Given the description of an element on the screen output the (x, y) to click on. 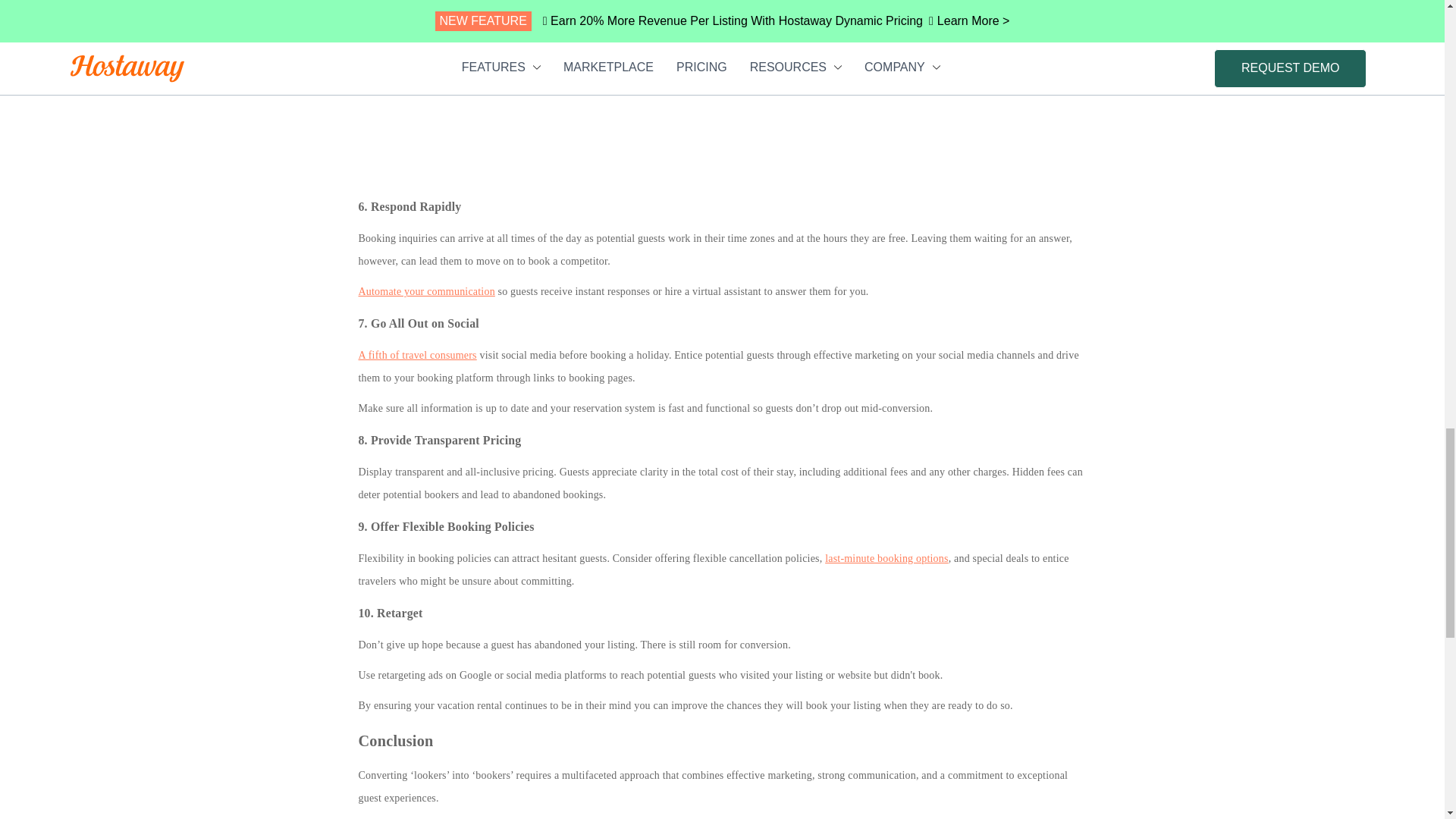
Automate your communication (426, 291)
last-minute booking options (887, 558)
A fifth of travel consumers (417, 355)
